Given the description of an element on the screen output the (x, y) to click on. 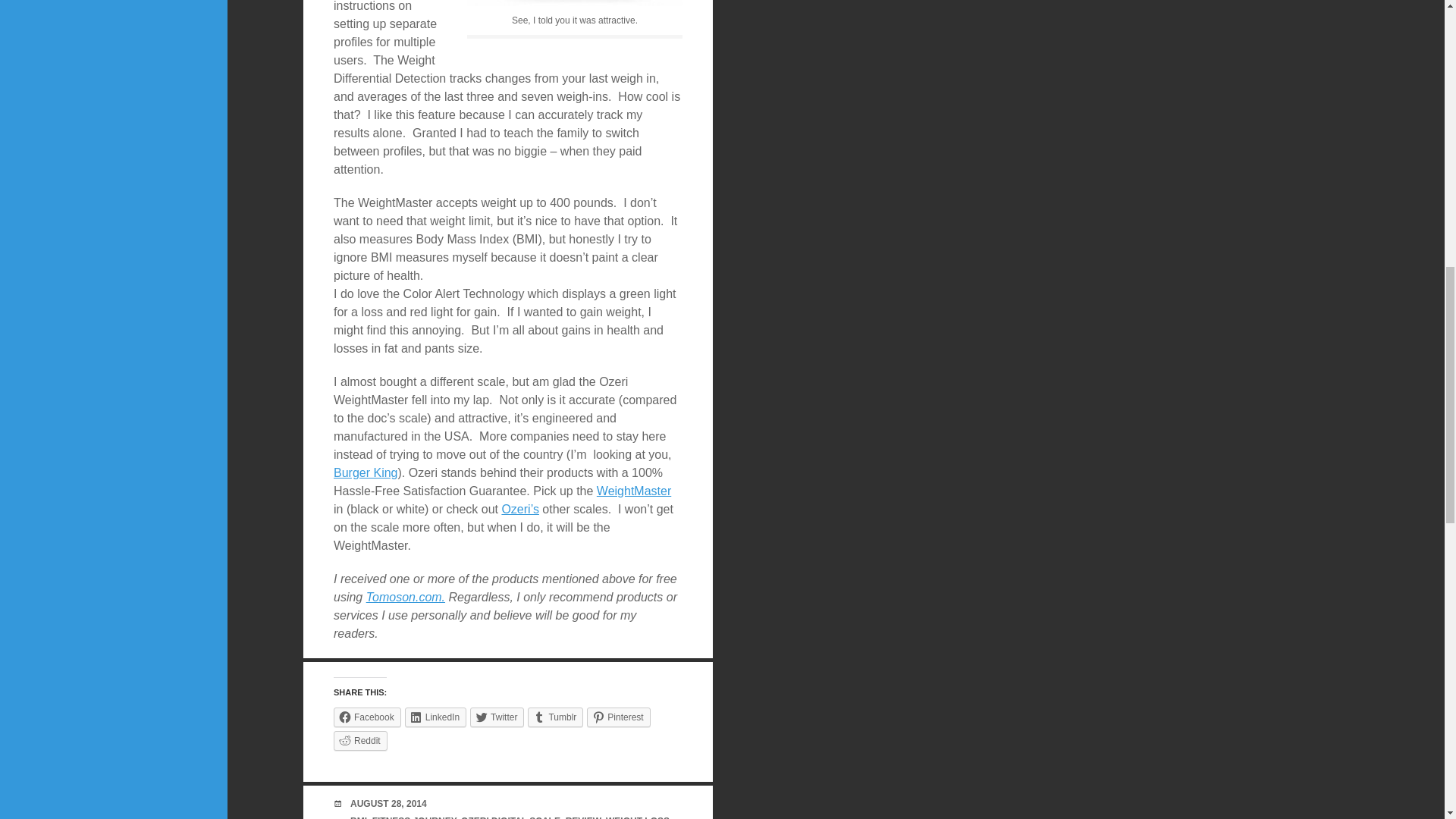
AUGUST 28, 2014 (388, 802)
Twitter (497, 716)
Click to share on Reddit (360, 741)
Click to share on Twitter (497, 716)
Click to share on Tumblr (555, 716)
FITNESS JOURNEY (414, 817)
Click to share on LinkedIn (434, 716)
BMI (358, 817)
WeightMaster (633, 490)
Tumblr (555, 716)
